Given the description of an element on the screen output the (x, y) to click on. 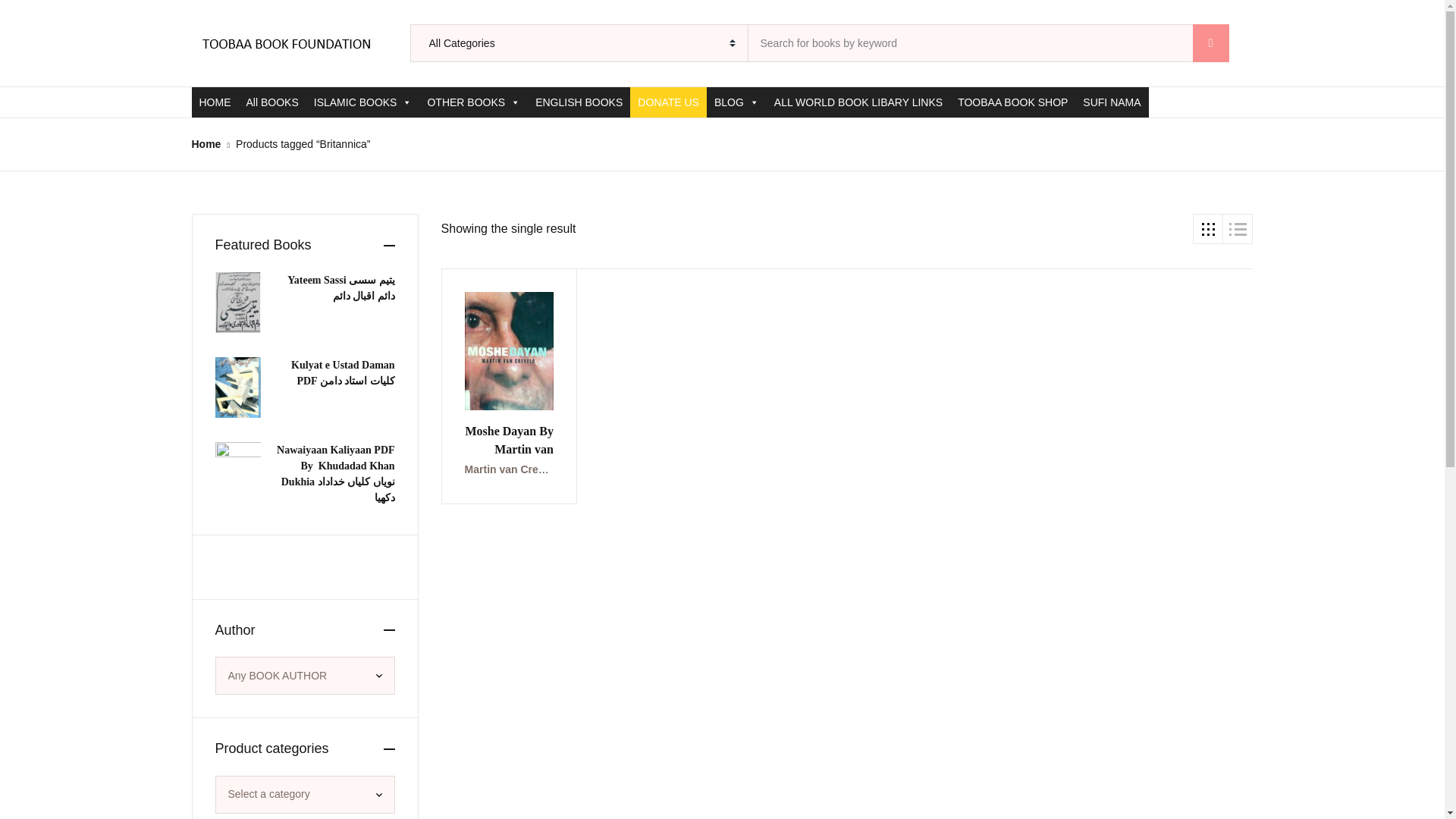
All BOOKS (271, 101)
BLOG (736, 101)
ENGLISH BOOKS (578, 101)
ISLAMIC BOOKS (362, 101)
OTHER BOOKS (473, 101)
HOME (214, 101)
DONATE US (668, 101)
